Given the description of an element on the screen output the (x, y) to click on. 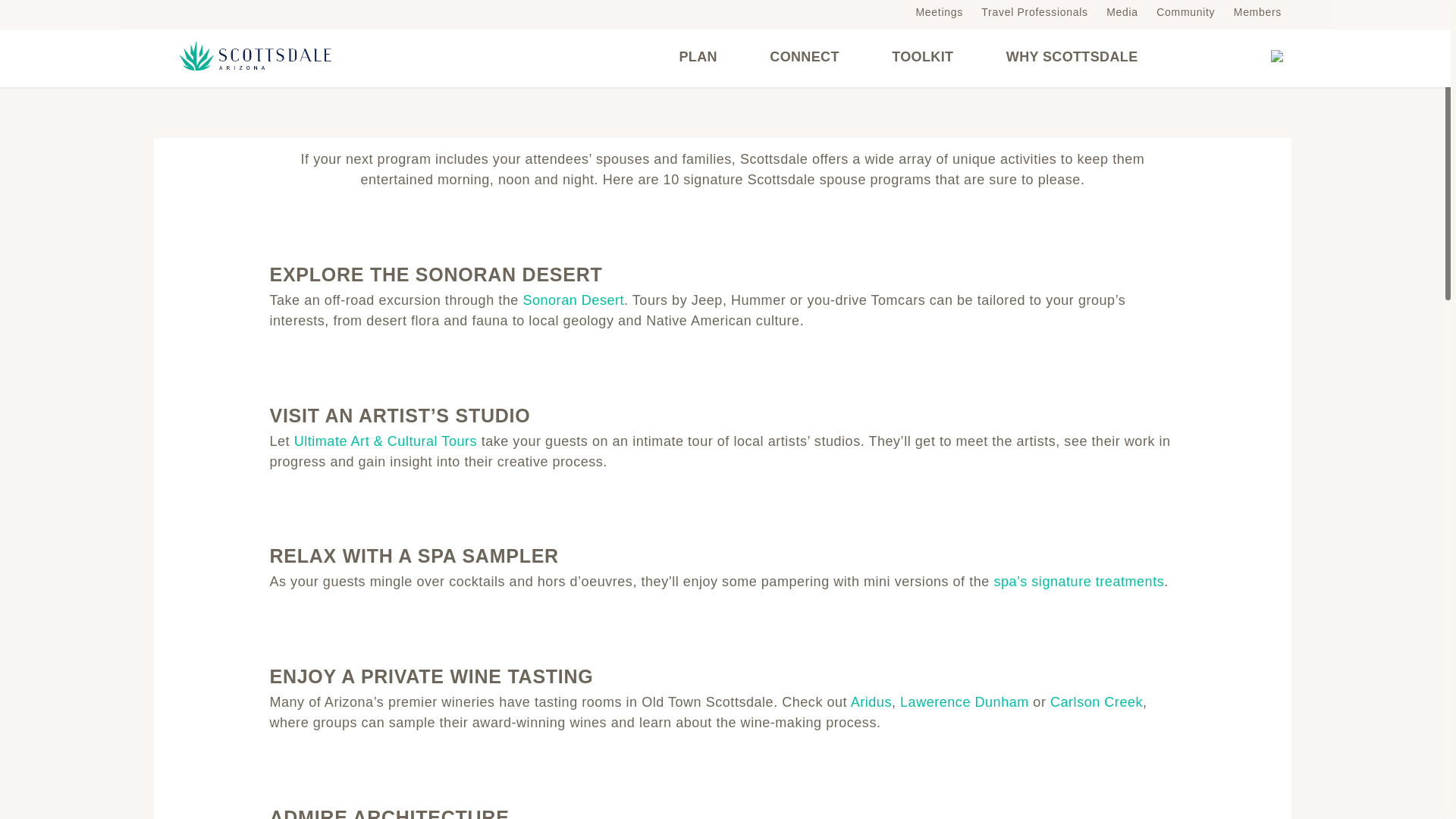
Media (1122, 11)
Meetings (938, 11)
Travel Professionals (1034, 11)
Meetings (938, 11)
